Given the description of an element on the screen output the (x, y) to click on. 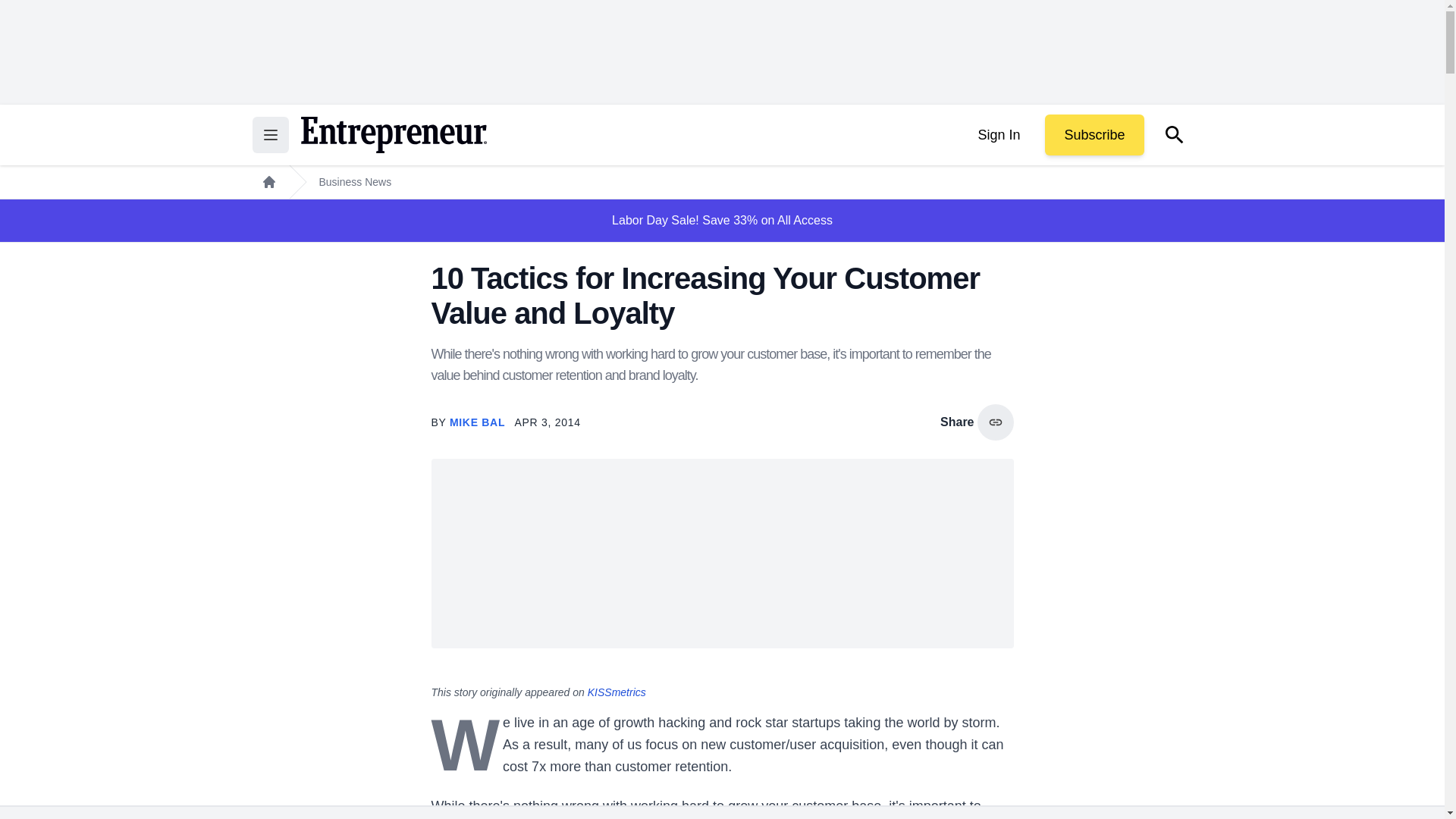
Subscribe (1093, 134)
Return to the home page (392, 135)
Sign In (998, 134)
copy (994, 422)
